Given the description of an element on the screen output the (x, y) to click on. 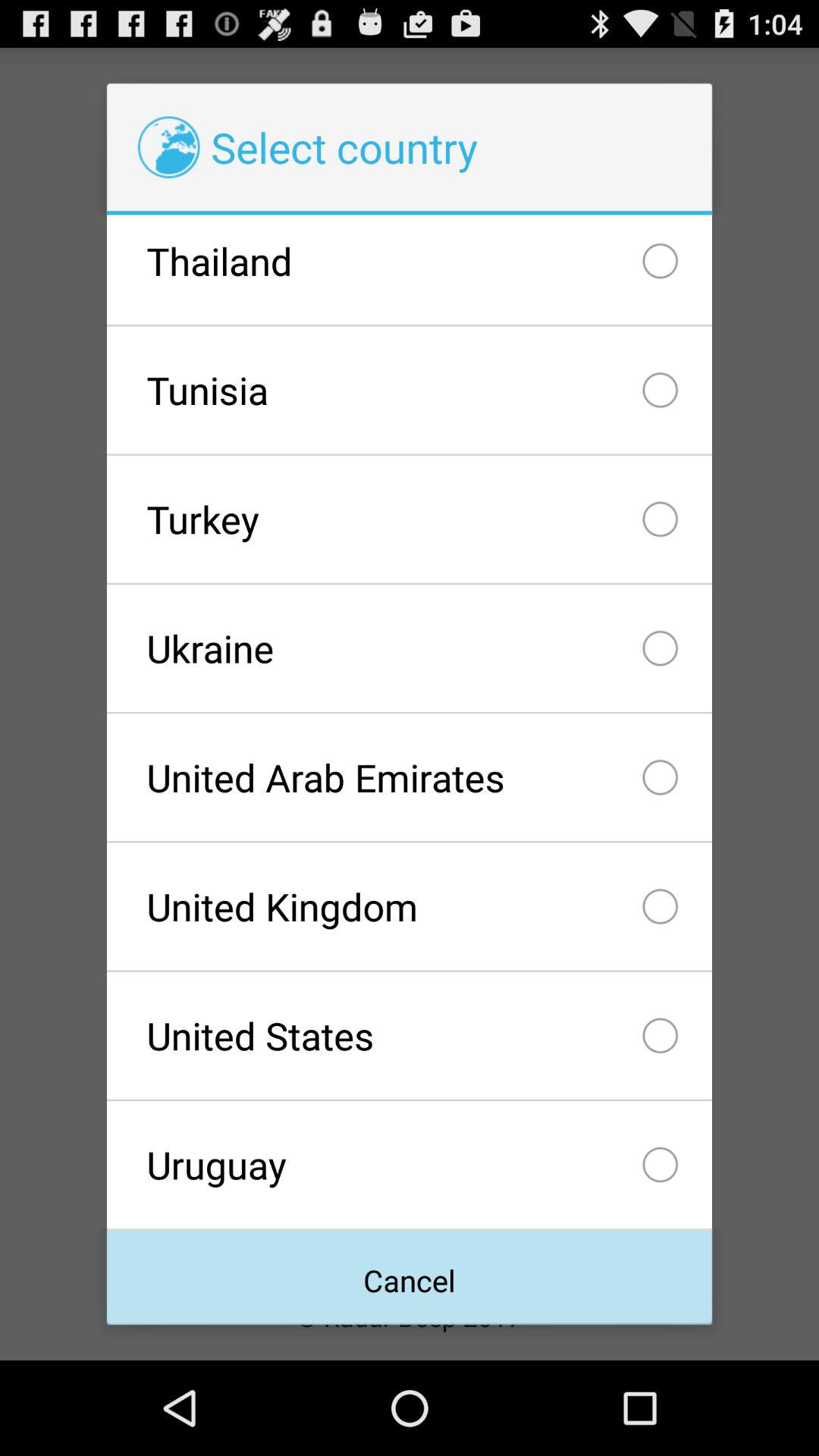
choose the ukraine checkbox (409, 648)
